Given the description of an element on the screen output the (x, y) to click on. 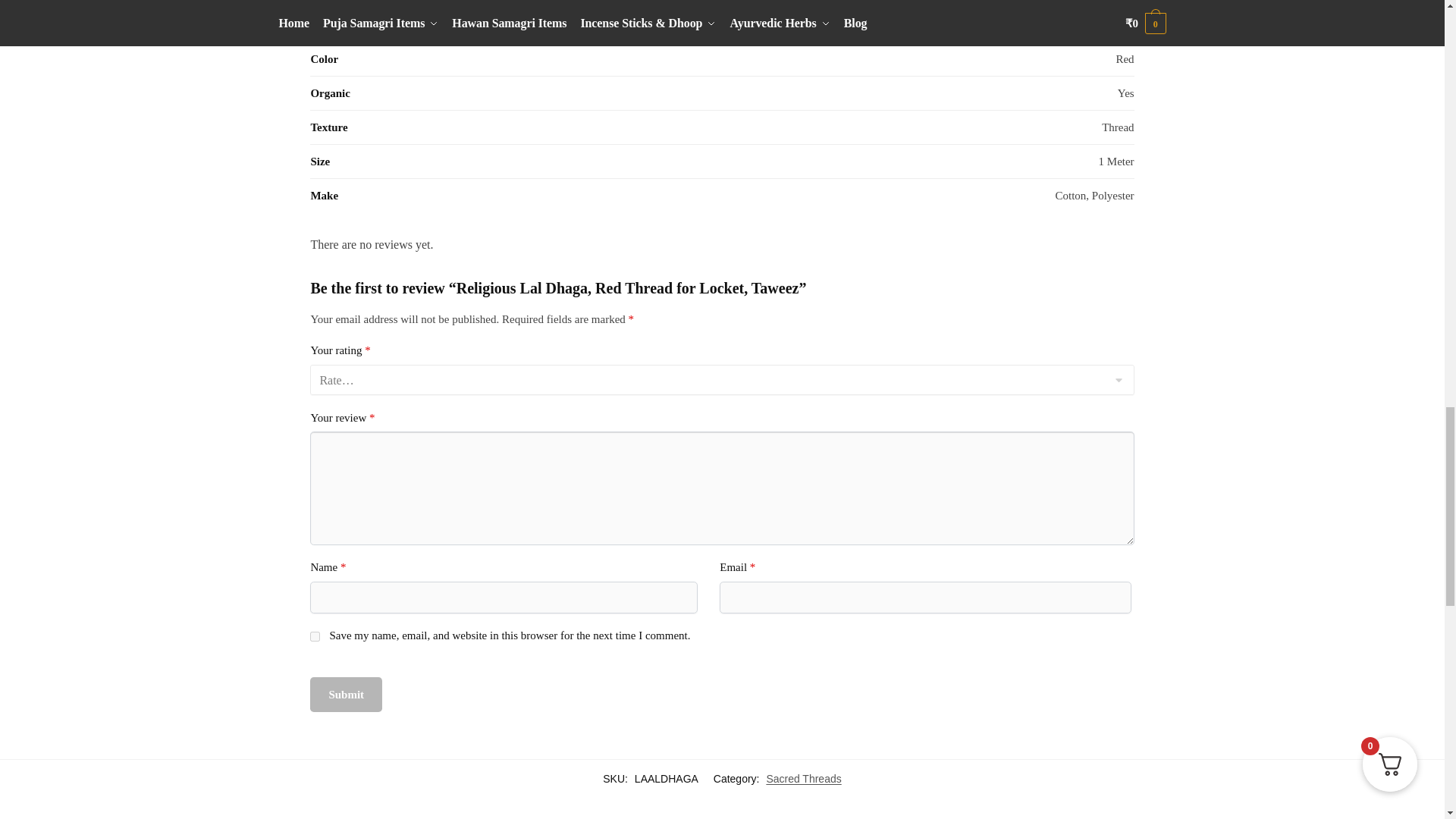
yes (315, 636)
Submit (345, 694)
